Given the description of an element on the screen output the (x, y) to click on. 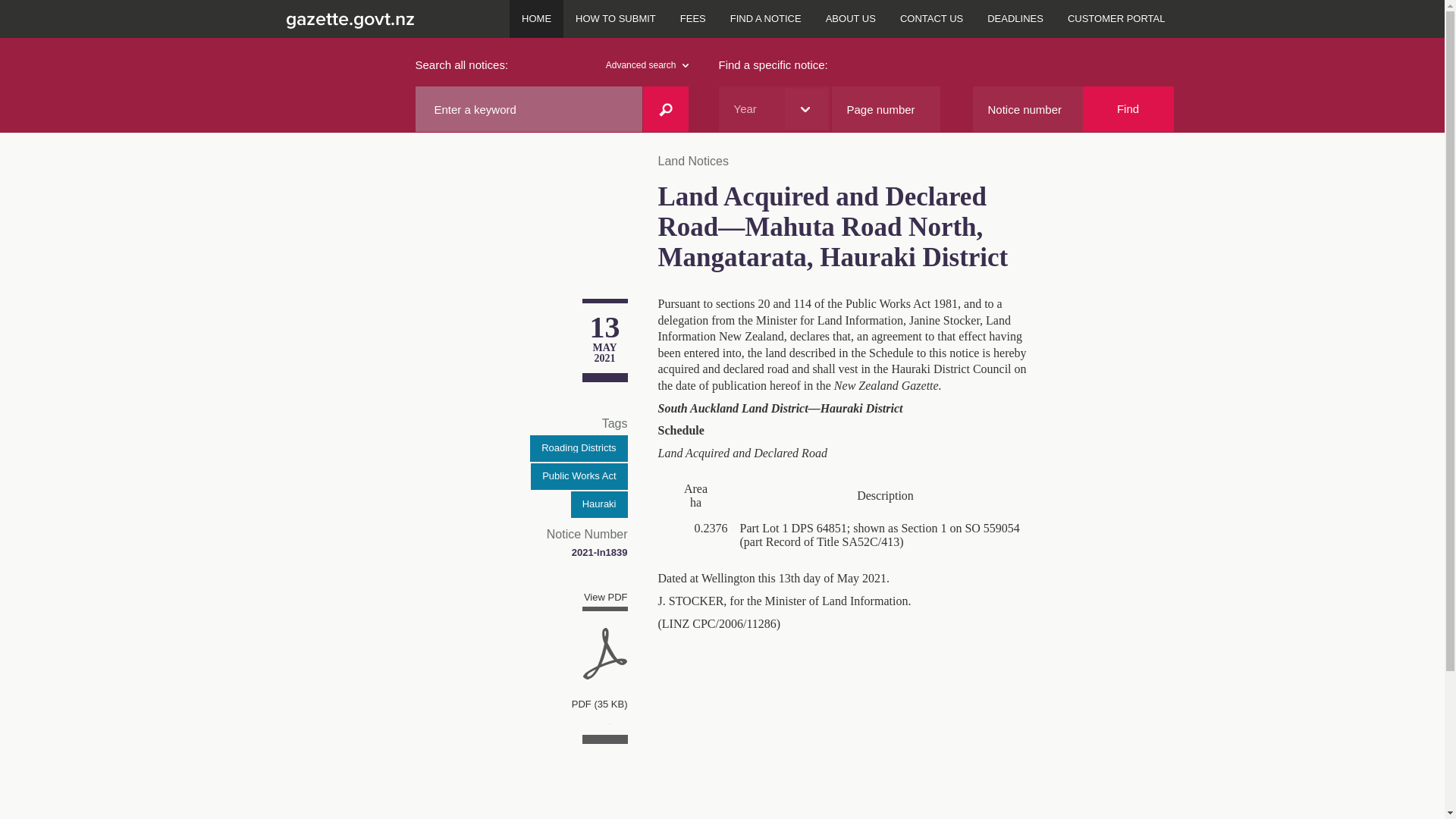
Public Works Act (579, 476)
FEES (692, 18)
HOW TO SUBMIT (615, 18)
Roading Districts (578, 447)
Gazette.govt.nz (347, 18)
Hauraki (598, 504)
Advanced search (646, 65)
CONTACT US (931, 18)
DEADLINES (1015, 18)
ABOUT US (850, 18)
